Given the description of an element on the screen output the (x, y) to click on. 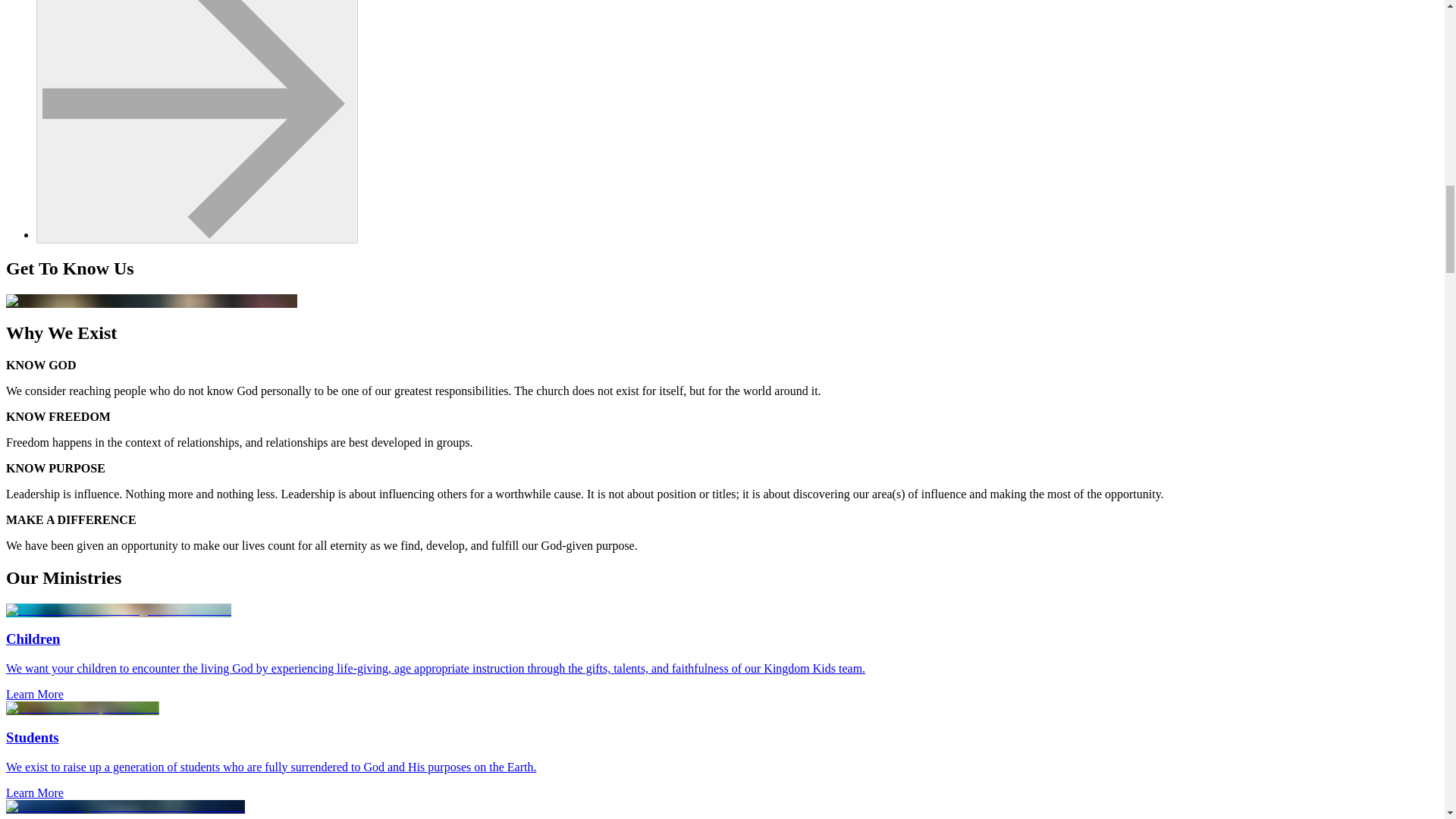
Make A Difference (197, 121)
